Given the description of an element on the screen output the (x, y) to click on. 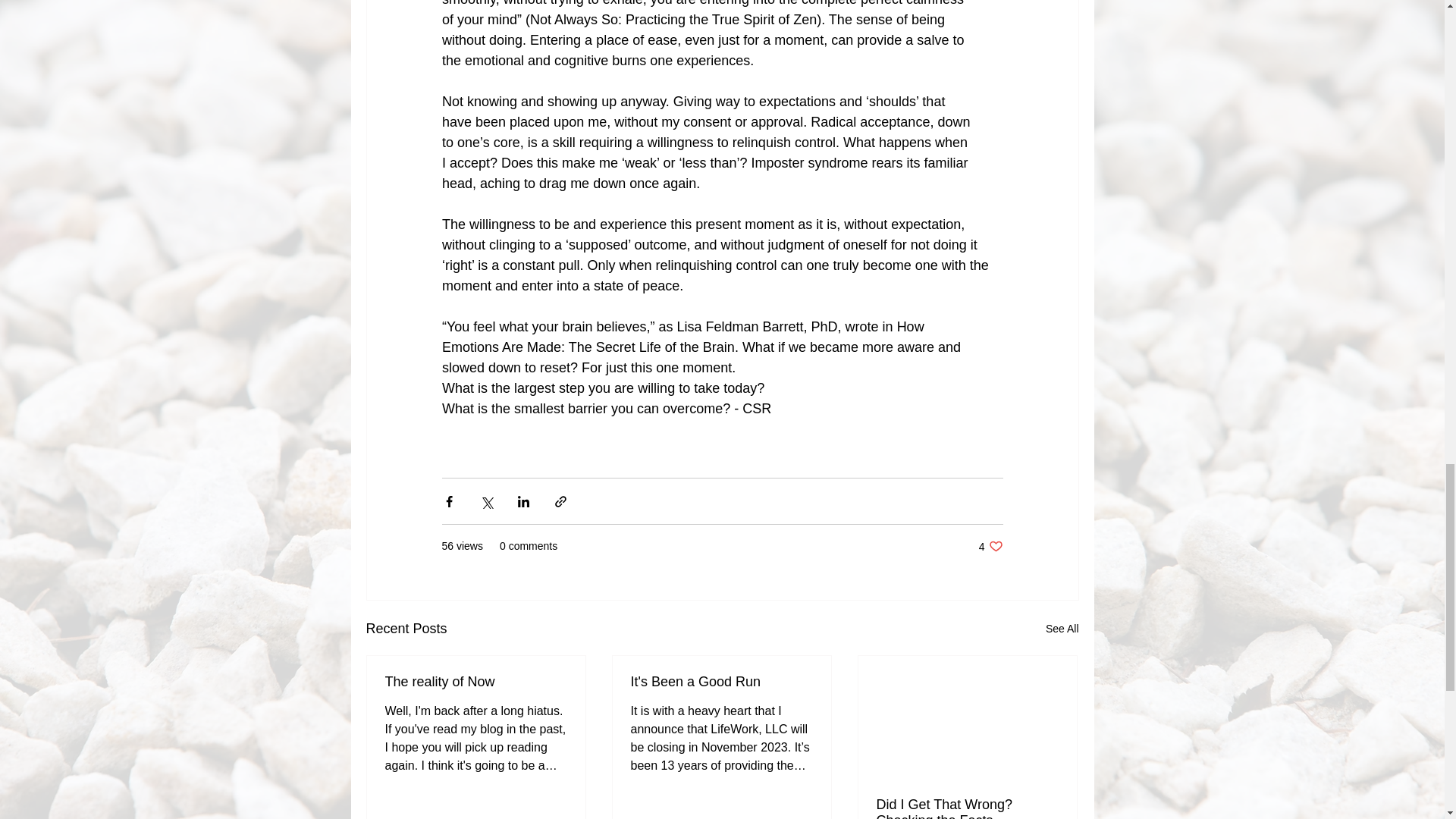
Did I Get That Wrong? Checking the Facts (967, 807)
It's Been a Good Run (721, 682)
See All (990, 545)
The reality of Now (1061, 628)
